Given the description of an element on the screen output the (x, y) to click on. 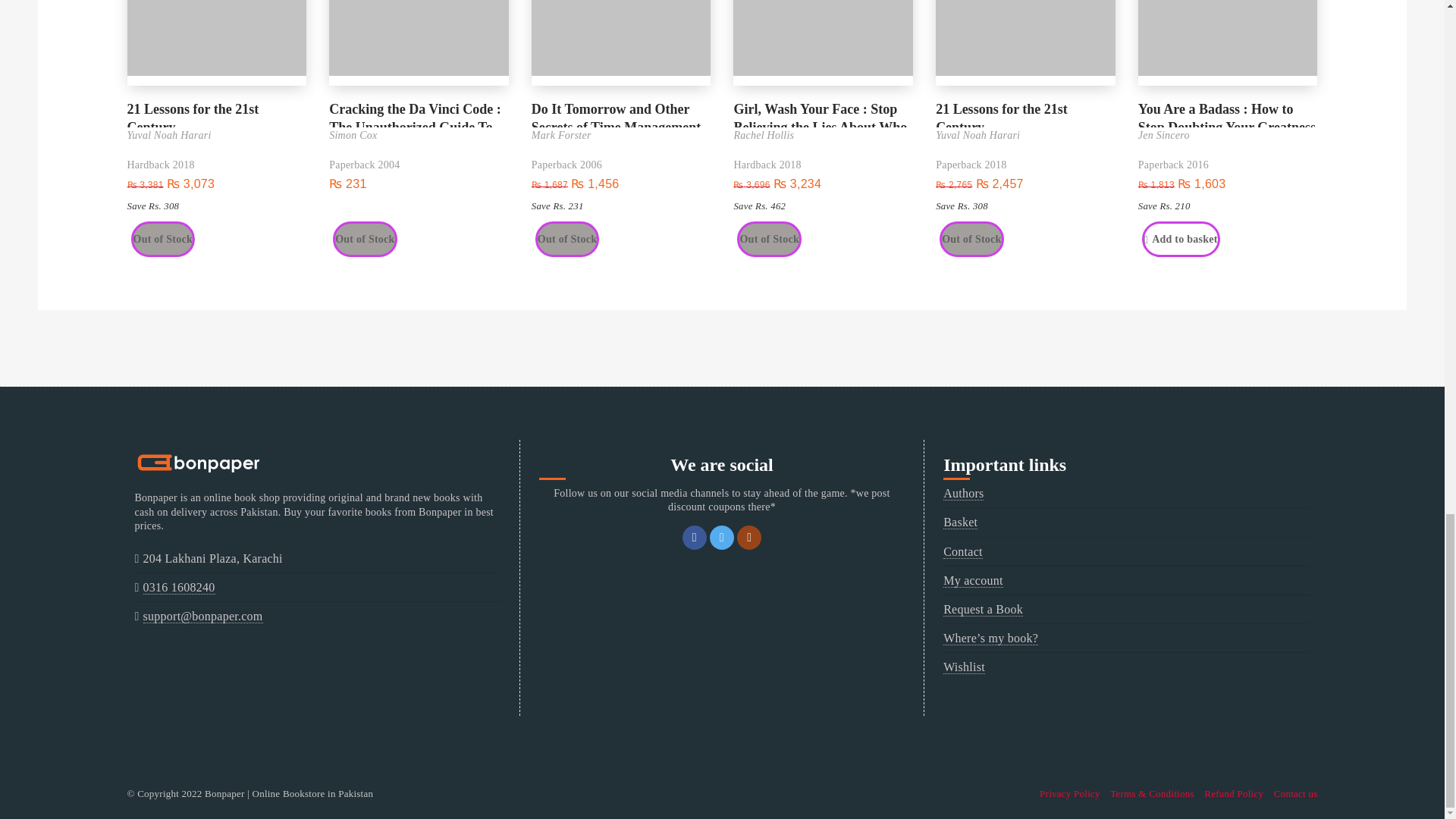
21 Lessons for the 21st Century (217, 113)
21 Lessons for the 21st Century (1025, 113)
Do It Tomorrow and Other Secrets of Time Management (621, 113)
